Given the description of an element on the screen output the (x, y) to click on. 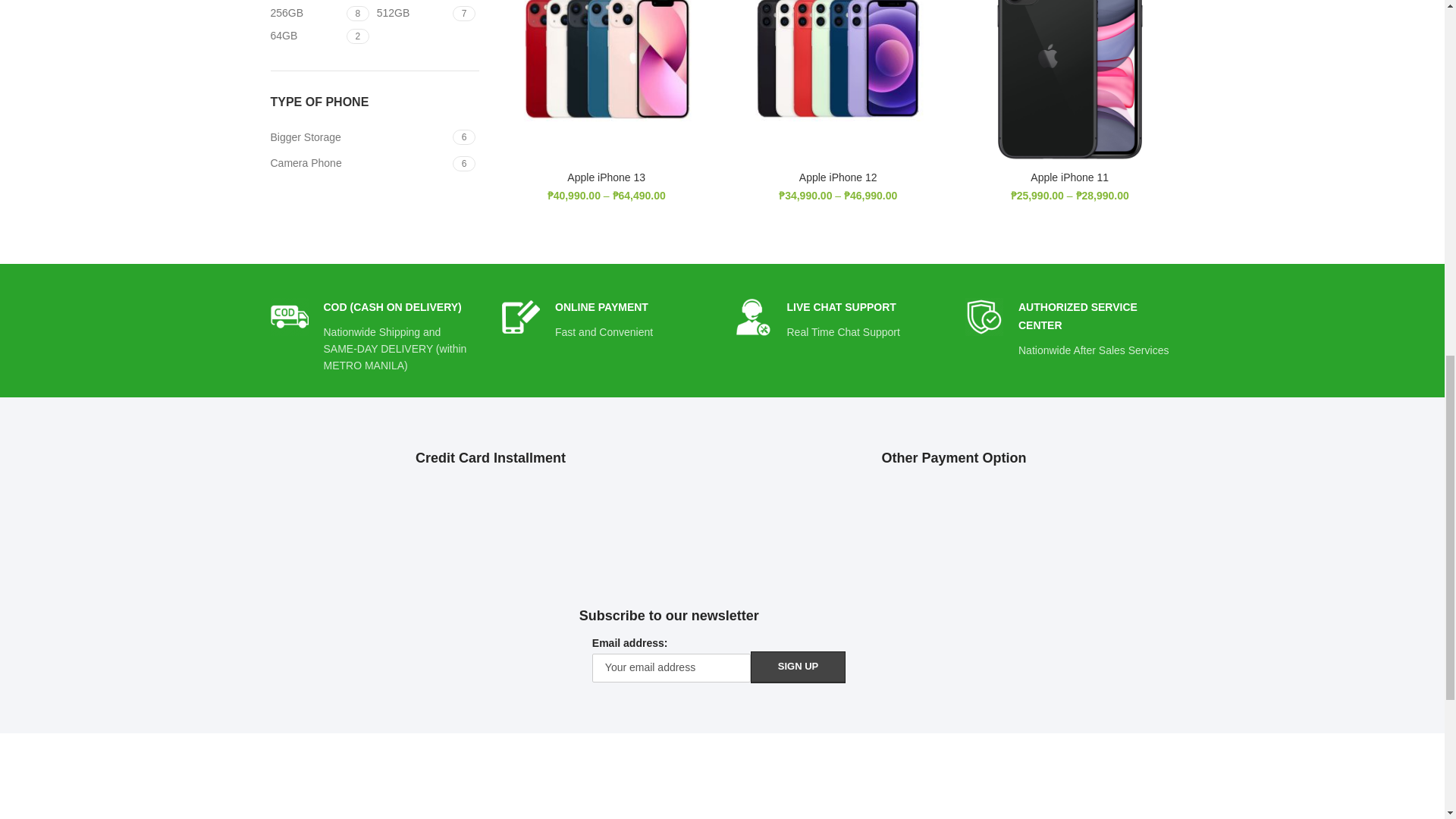
77 (984, 316)
75 (374, 23)
cod-icon (521, 316)
Sign up (288, 316)
76 (374, 152)
